Given the description of an element on the screen output the (x, y) to click on. 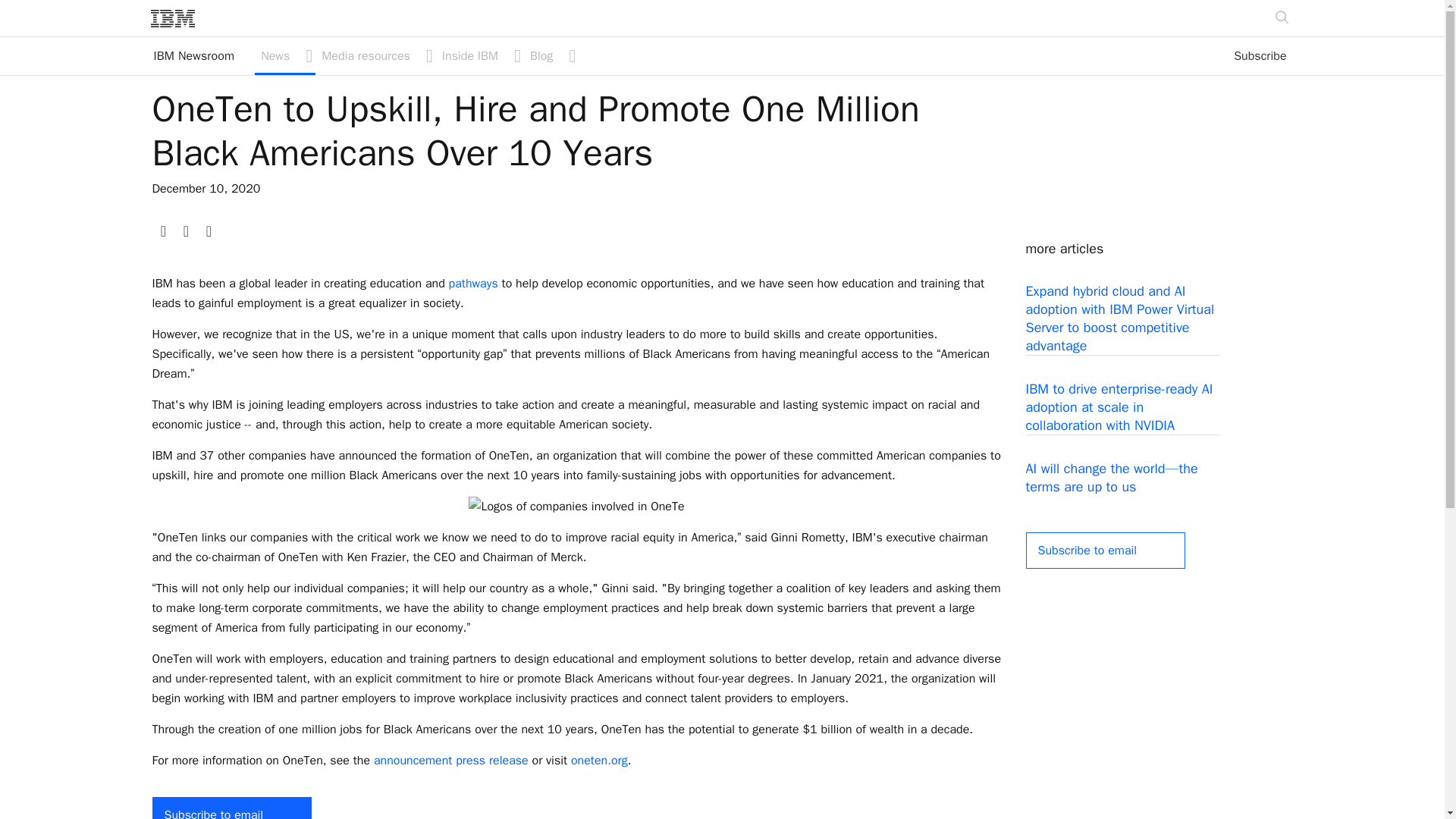
pathways (472, 283)
print (162, 229)
Media resources (375, 55)
announcement press release (451, 760)
rss (207, 229)
Blog (551, 55)
Subscribe (1259, 55)
News (202, 55)
Inside IBM (284, 55)
email (479, 55)
